Given the description of an element on the screen output the (x, y) to click on. 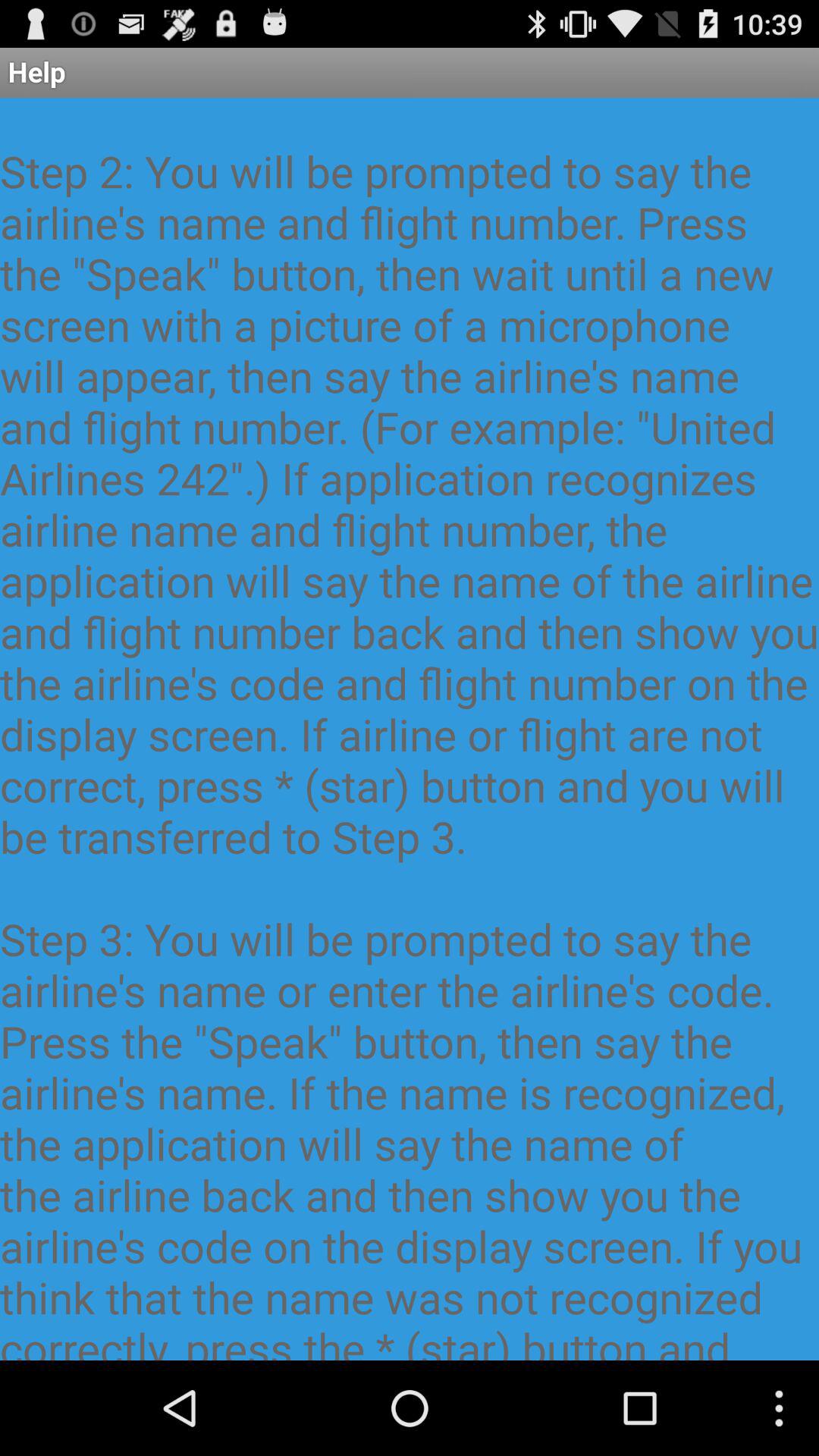
open the this application resembles item (409, 728)
